Given the description of an element on the screen output the (x, y) to click on. 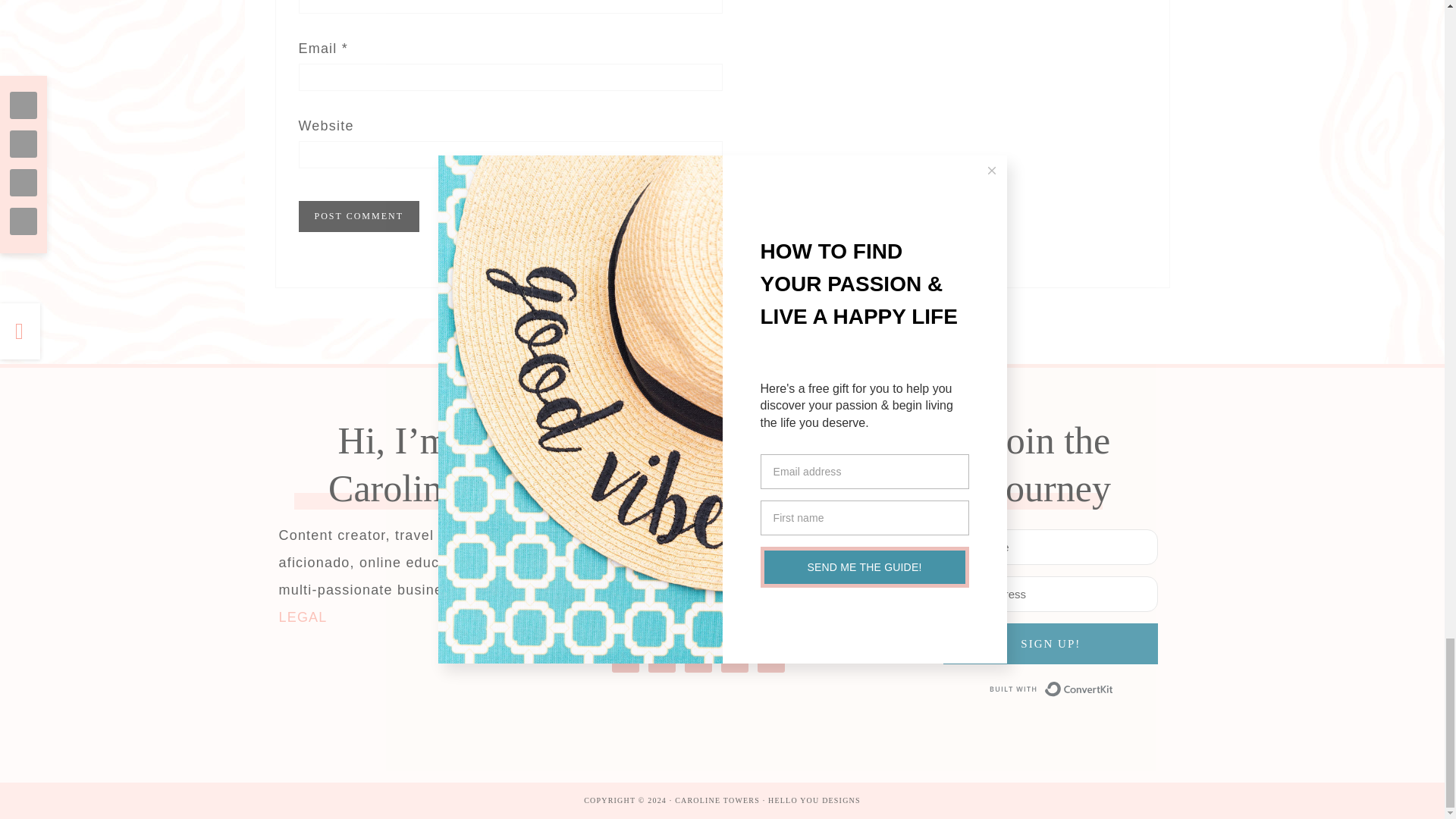
Post Comment (358, 215)
